Given the description of an element on the screen output the (x, y) to click on. 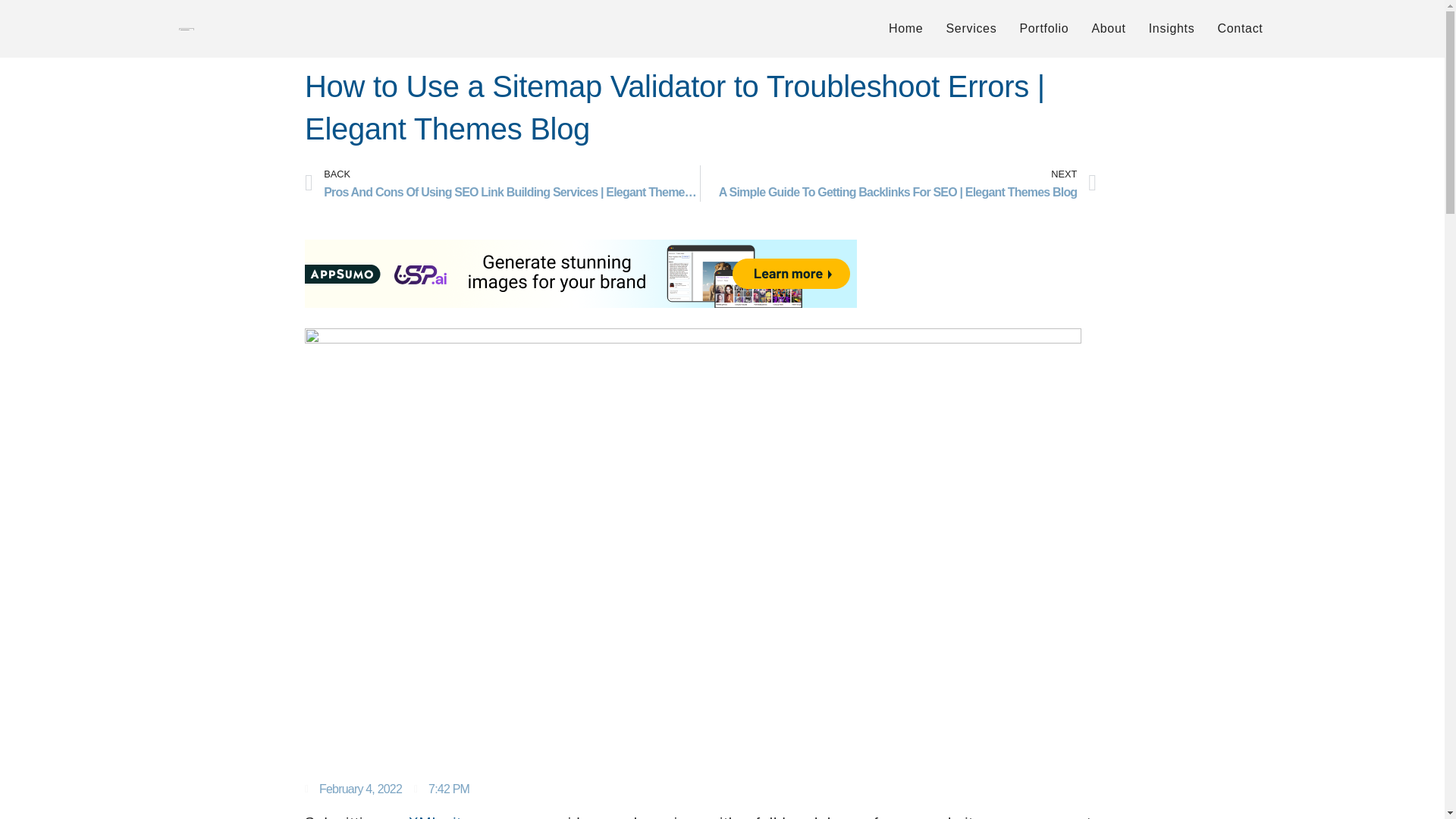
XML sitemap (454, 816)
Contact (1239, 28)
Insights (1172, 28)
About (1108, 28)
Home (905, 28)
Portfolio (1043, 28)
Services (970, 28)
